Given the description of an element on the screen output the (x, y) to click on. 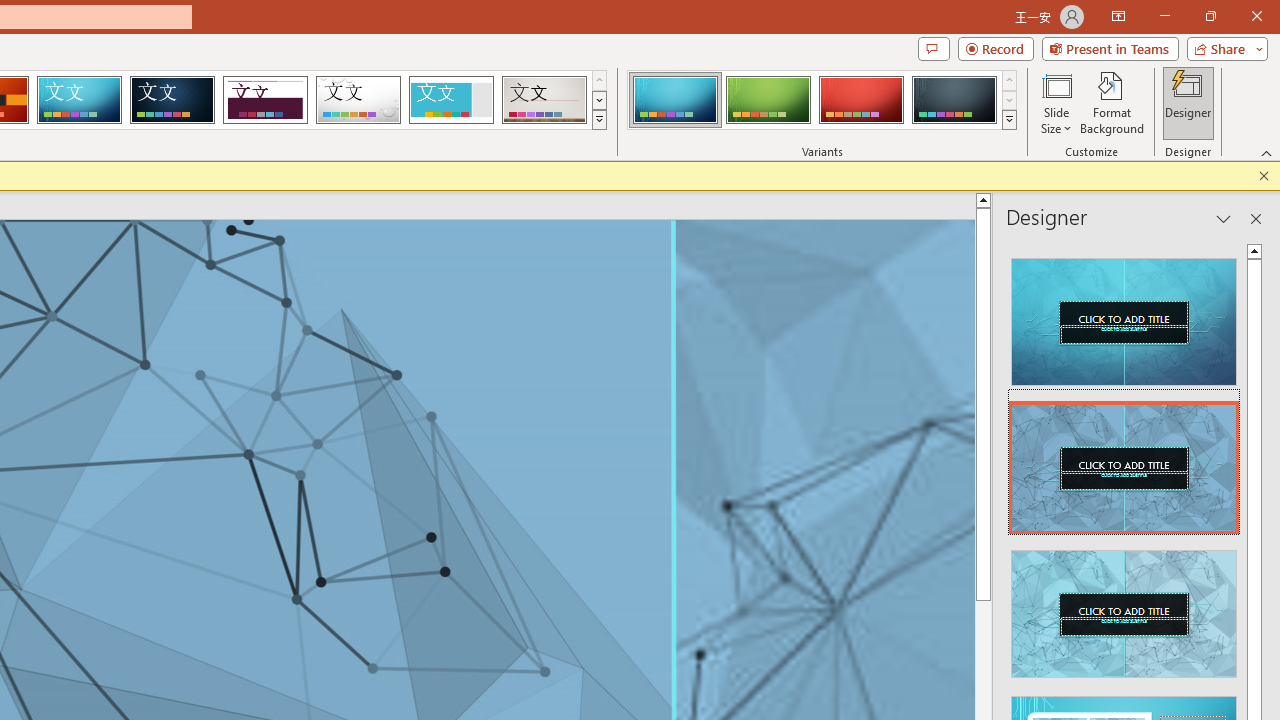
Circuit (79, 100)
Circuit Variant 4 (953, 100)
Circuit Variant 3 (861, 100)
Circuit Variant 2 (768, 100)
